Given the description of an element on the screen output the (x, y) to click on. 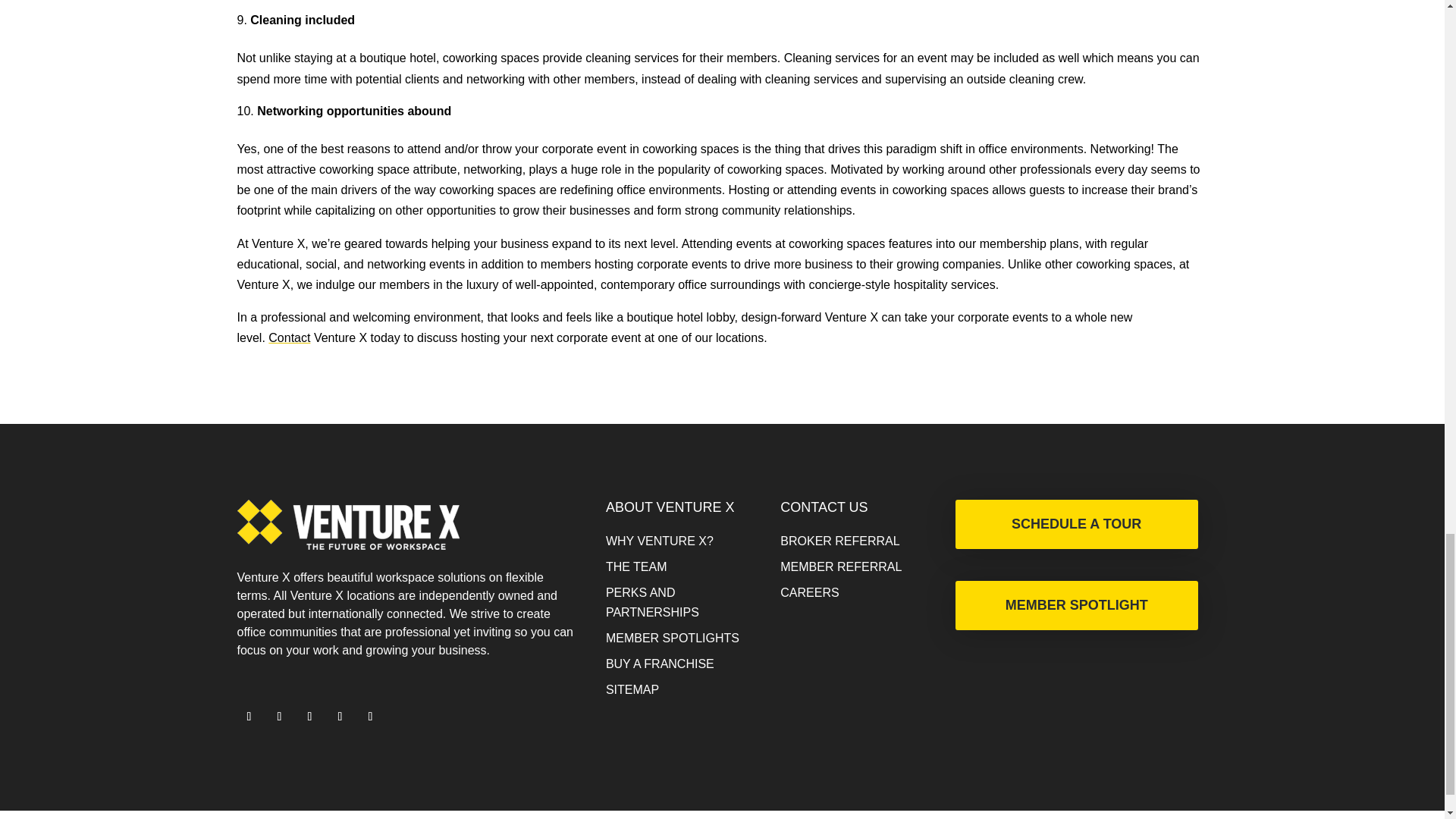
Follow on Instagram (309, 716)
logo (346, 524)
Follow on X (247, 716)
Follow on LinkedIn (339, 716)
Follow on Pinterest (369, 716)
Follow on Facebook (278, 716)
